Given the description of an element on the screen output the (x, y) to click on. 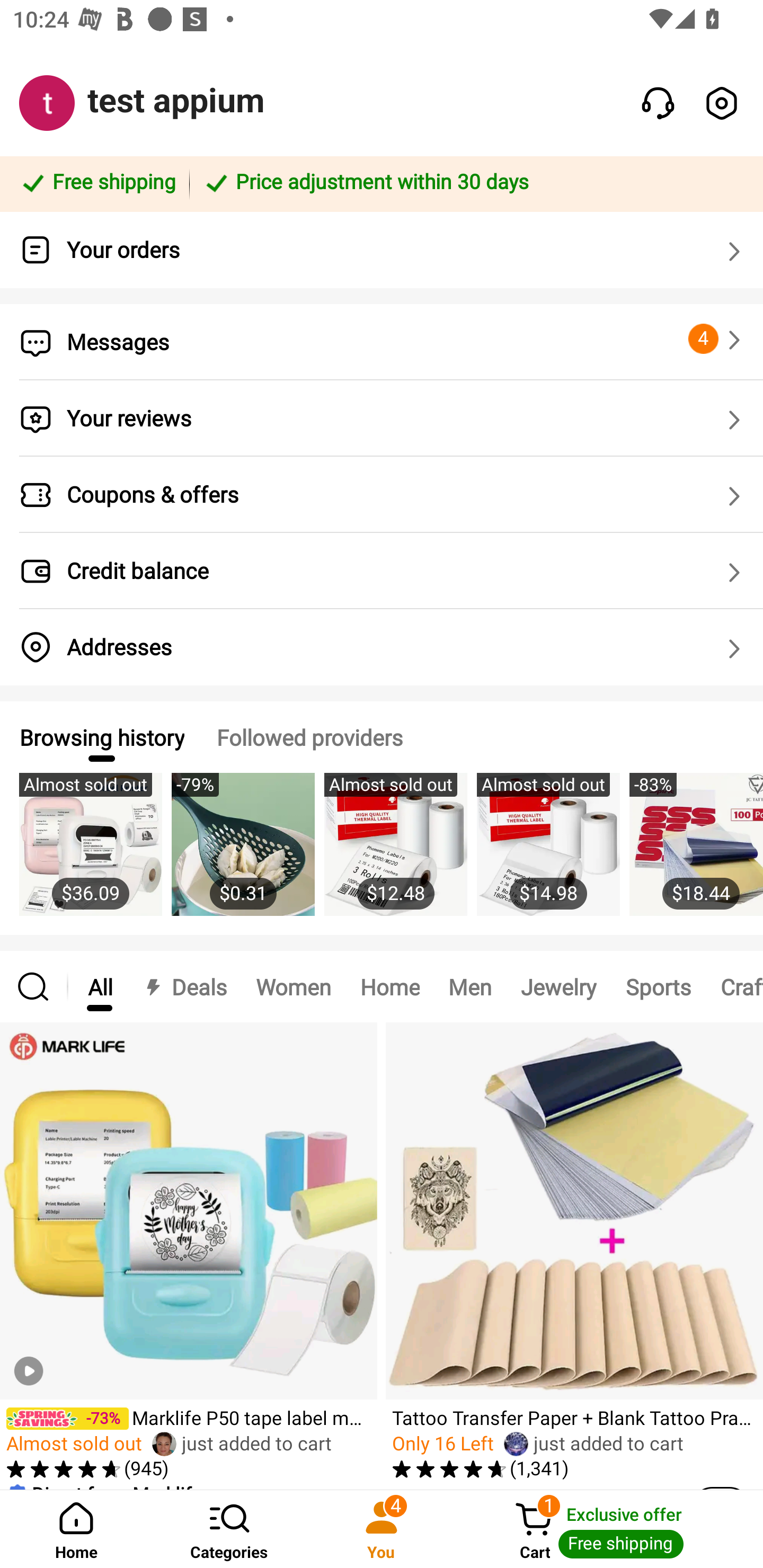
test appium (175, 100)
Free shipping (97, 183)
Price adjustment within 30 days (472, 183)
Your orders (381, 249)
Messages 4 (381, 342)
4 (717, 339)
Your reviews (381, 418)
Coupons & offers (381, 494)
Credit balance (381, 571)
Addresses (381, 647)
Browsing history (101, 736)
Followed providers (308, 736)
Almost sold out $36.09 (90, 853)
-79% $0.31 (242, 853)
Almost sold out $12.48 (395, 853)
Almost sold out $14.98 (547, 853)
-83% $18.44 (696, 853)
All (99, 986)
Deals Deals Deals (183, 986)
Women (293, 986)
Home (389, 986)
Men (469, 986)
Jewelry (558, 986)
Sports (658, 986)
Crafts (734, 986)
Home (76, 1528)
Categories (228, 1528)
You 4 You (381, 1528)
Cart 1 Cart Exclusive offer (610, 1528)
